Given the description of an element on the screen output the (x, y) to click on. 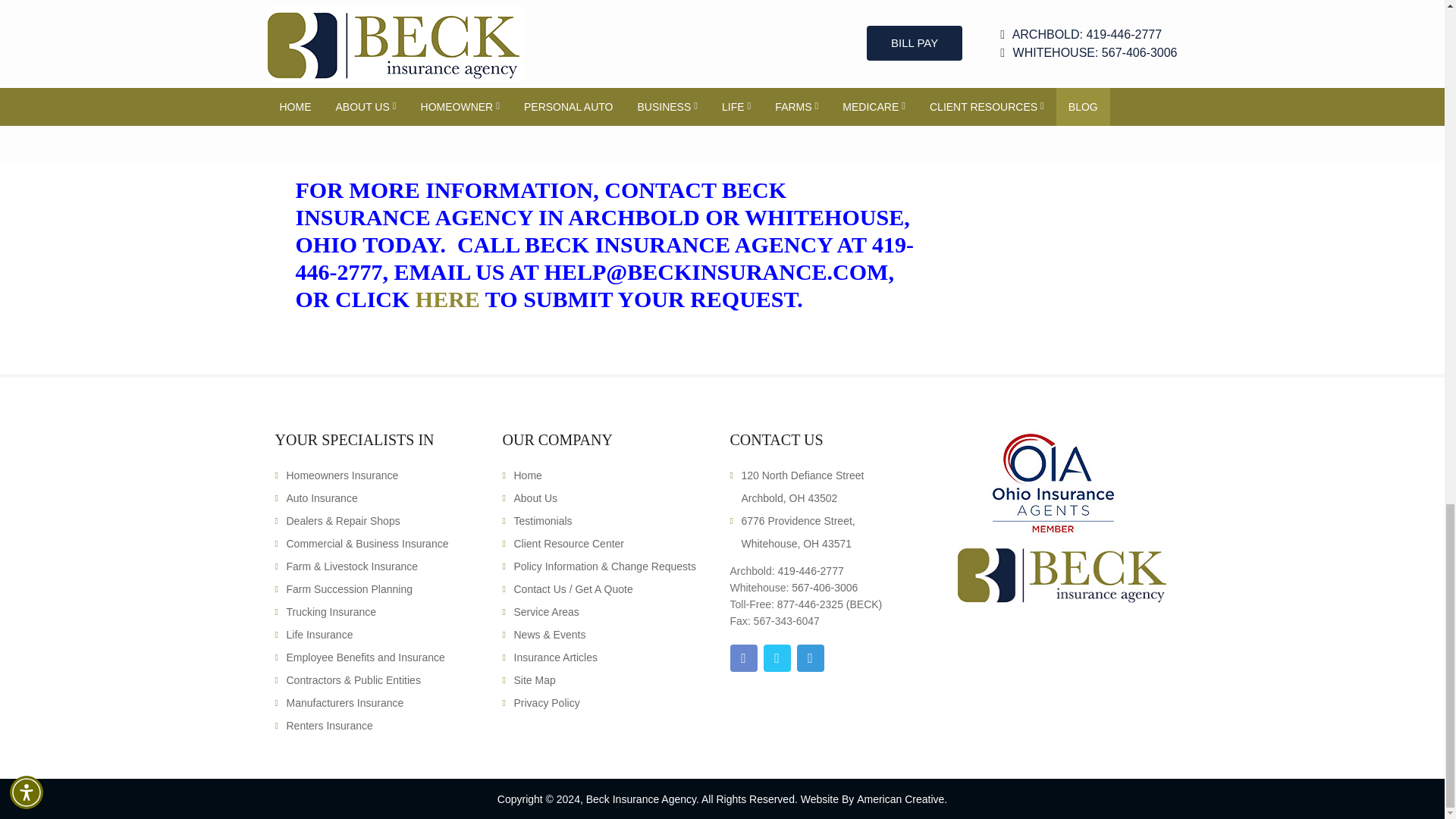
Twitter (776, 657)
Facebook (743, 657)
LinkedIn (810, 657)
HERE (447, 299)
